Given the description of an element on the screen output the (x, y) to click on. 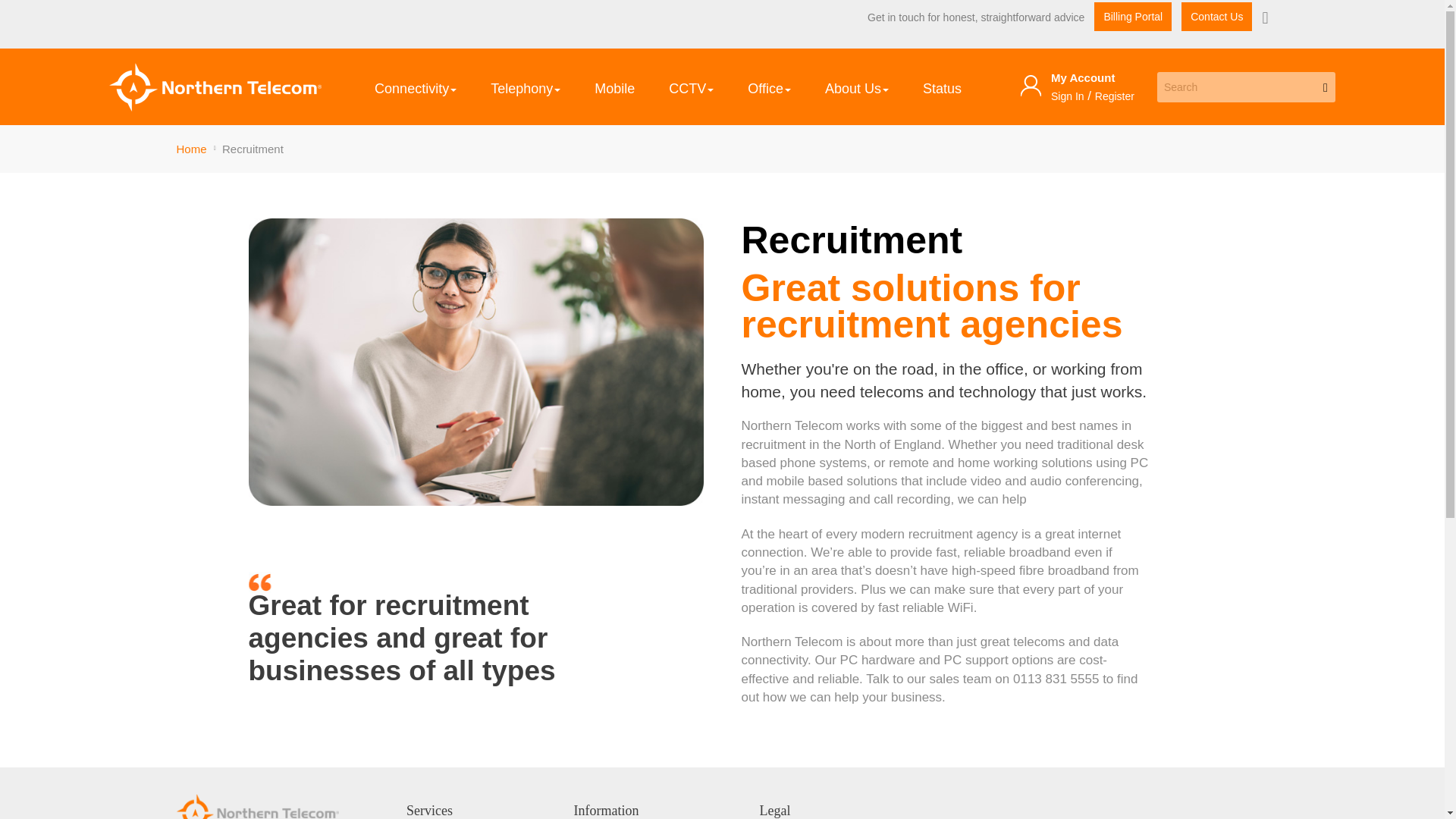
Contact Us (1216, 16)
CCTV (691, 86)
Billing Portal (1133, 16)
Mobile (614, 86)
Connectivity (415, 86)
Go to Home Page (192, 148)
Telephony (525, 86)
